Given the description of an element on the screen output the (x, y) to click on. 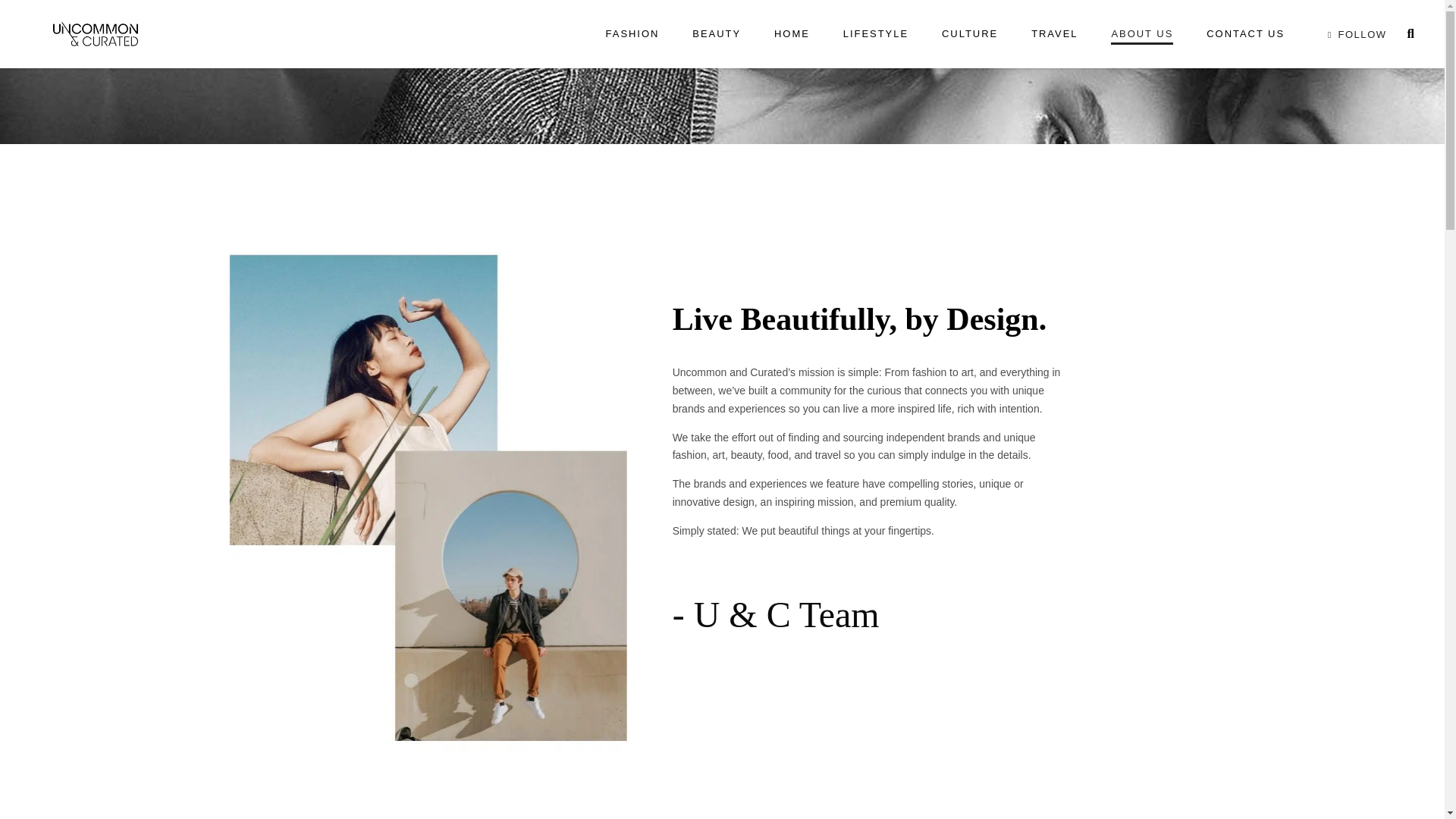
FASHION (633, 33)
CULTURE (969, 33)
CONTACT US (1245, 33)
TRAVEL (1054, 33)
LIFESTYLE (875, 33)
BEAUTY (716, 33)
ABOUT US (1141, 33)
FOLLOW (1354, 33)
HOME (792, 33)
